Given the description of an element on the screen output the (x, y) to click on. 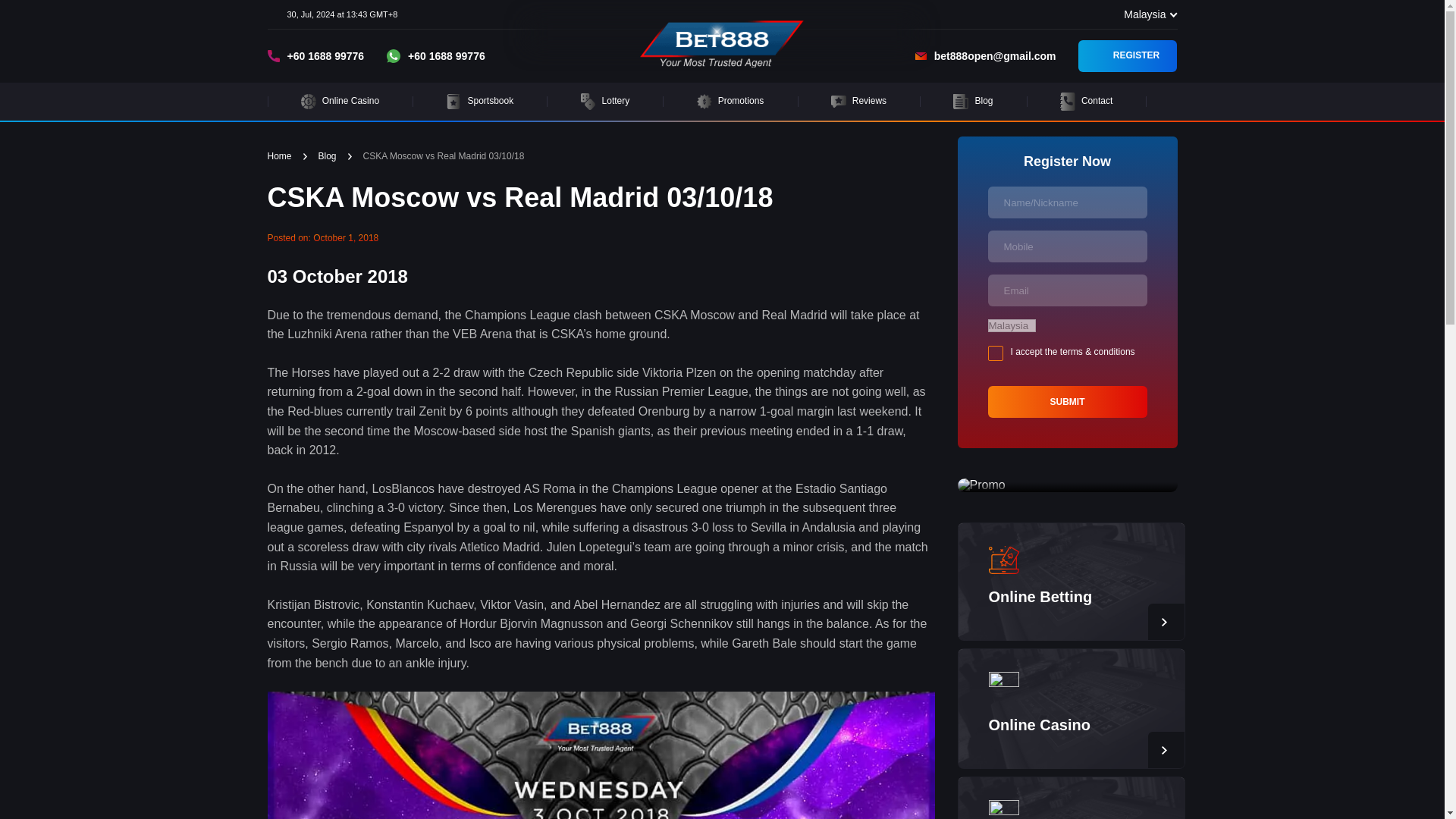
Online Betting (1040, 596)
Submit (1067, 401)
Blog (327, 156)
Lottery (604, 101)
Online Casino (339, 101)
Blog (972, 101)
Submit (1067, 401)
Contact (1086, 101)
Home (278, 156)
Reviews (859, 101)
Promotions (729, 101)
Sportsbook (479, 101)
REGISTER (1127, 56)
Online Casino (1039, 724)
